Given the description of an element on the screen output the (x, y) to click on. 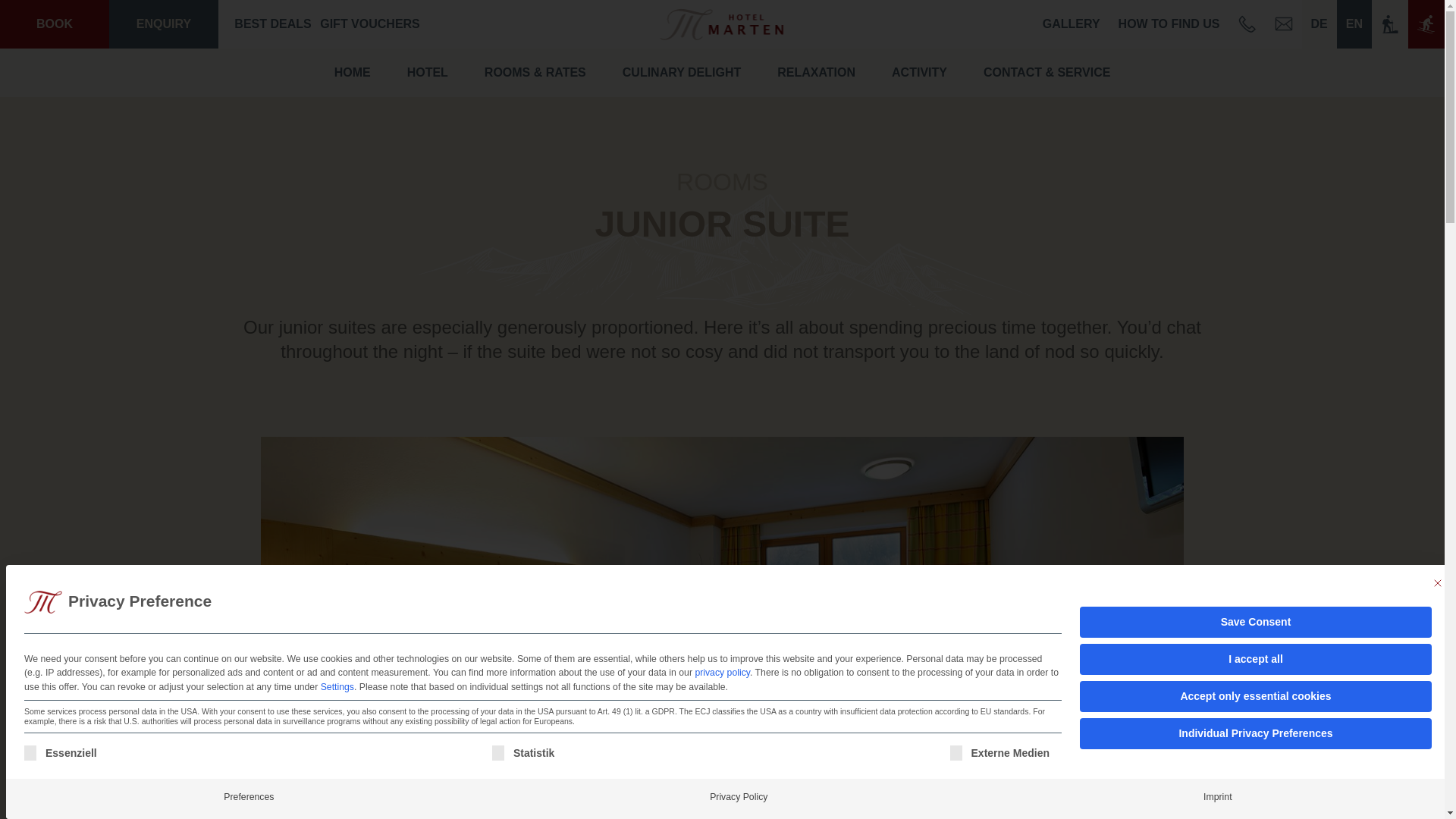
EN (1353, 24)
GALLERY (1071, 24)
Vorheriges (115, 666)
HOW TO FIND US (1168, 24)
on (497, 752)
on (30, 752)
GIFT VOUCHERS (370, 24)
on (956, 752)
BEST DEALS (272, 24)
CULINARY DELIGHT (681, 72)
HOTEL (426, 72)
ENQUIRY (163, 24)
Show page in summer-mode (1389, 24)
HOME (351, 72)
DE (1318, 24)
